Given the description of an element on the screen output the (x, y) to click on. 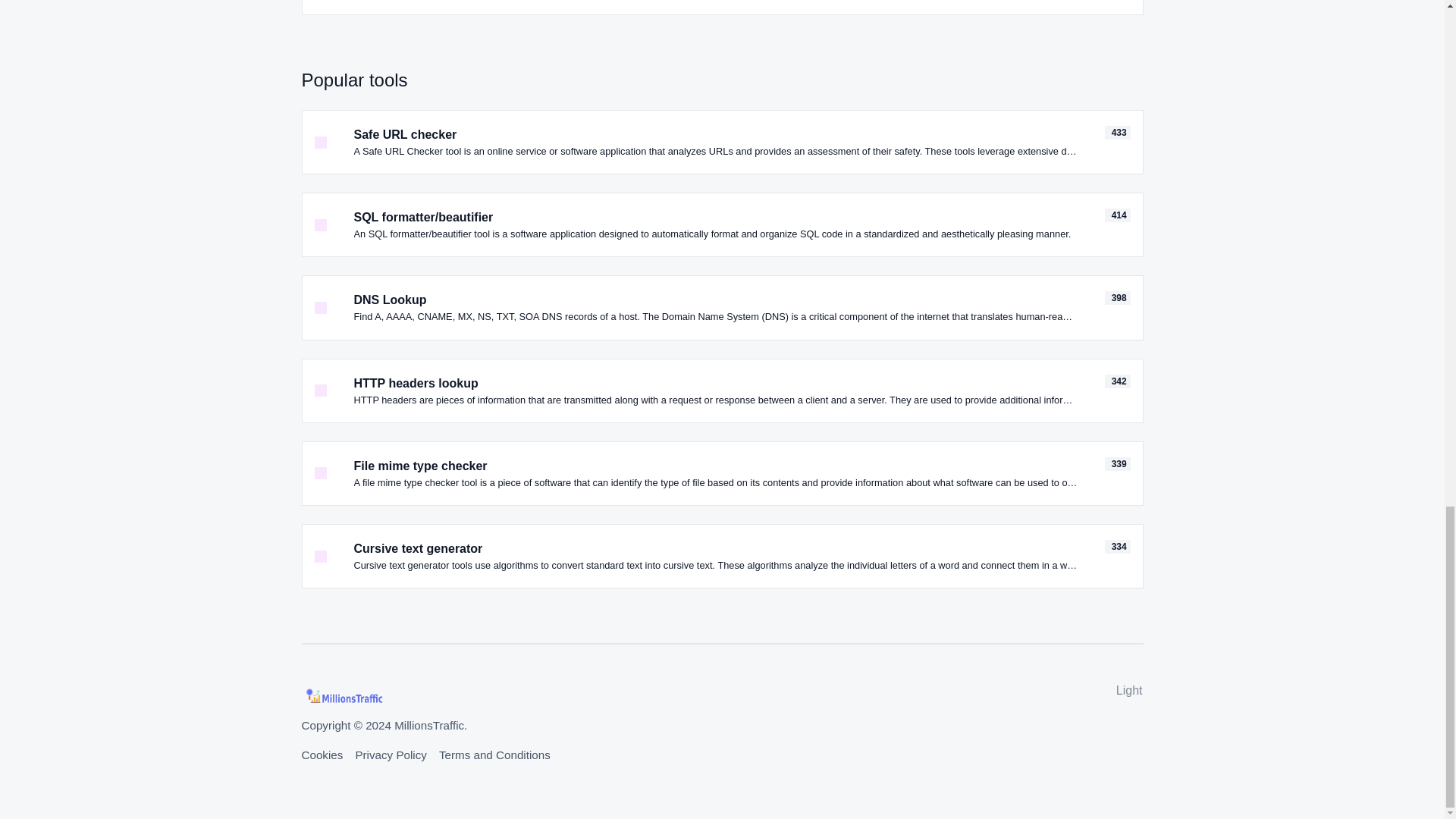
Cookies (322, 754)
Terms and Conditions (494, 754)
Privacy Policy (390, 754)
Light (1127, 690)
